Given the description of an element on the screen output the (x, y) to click on. 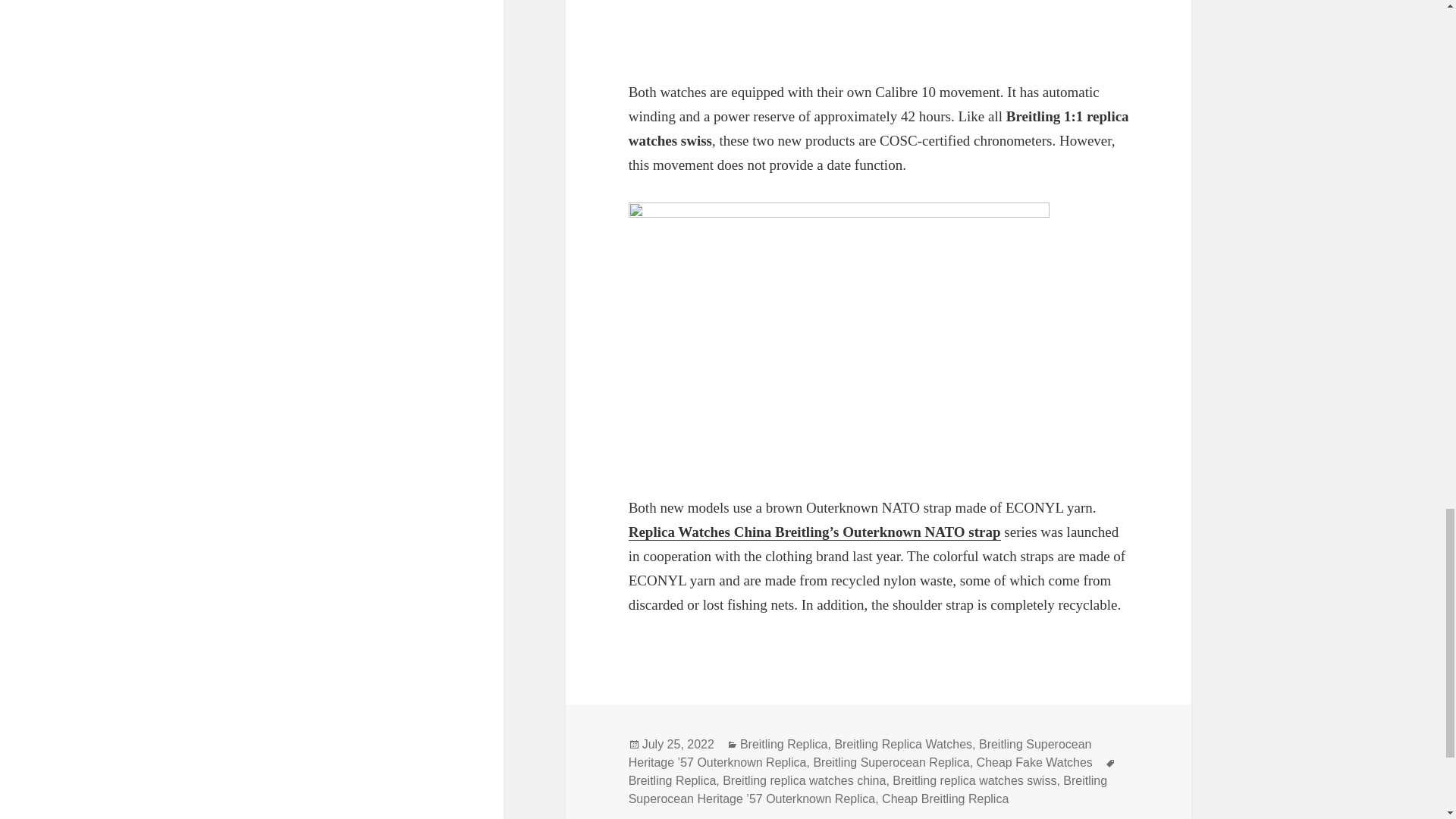
Breitling Replica (783, 744)
Breitling Replica Watches (903, 744)
July 25, 2022 (678, 744)
